Given the description of an element on the screen output the (x, y) to click on. 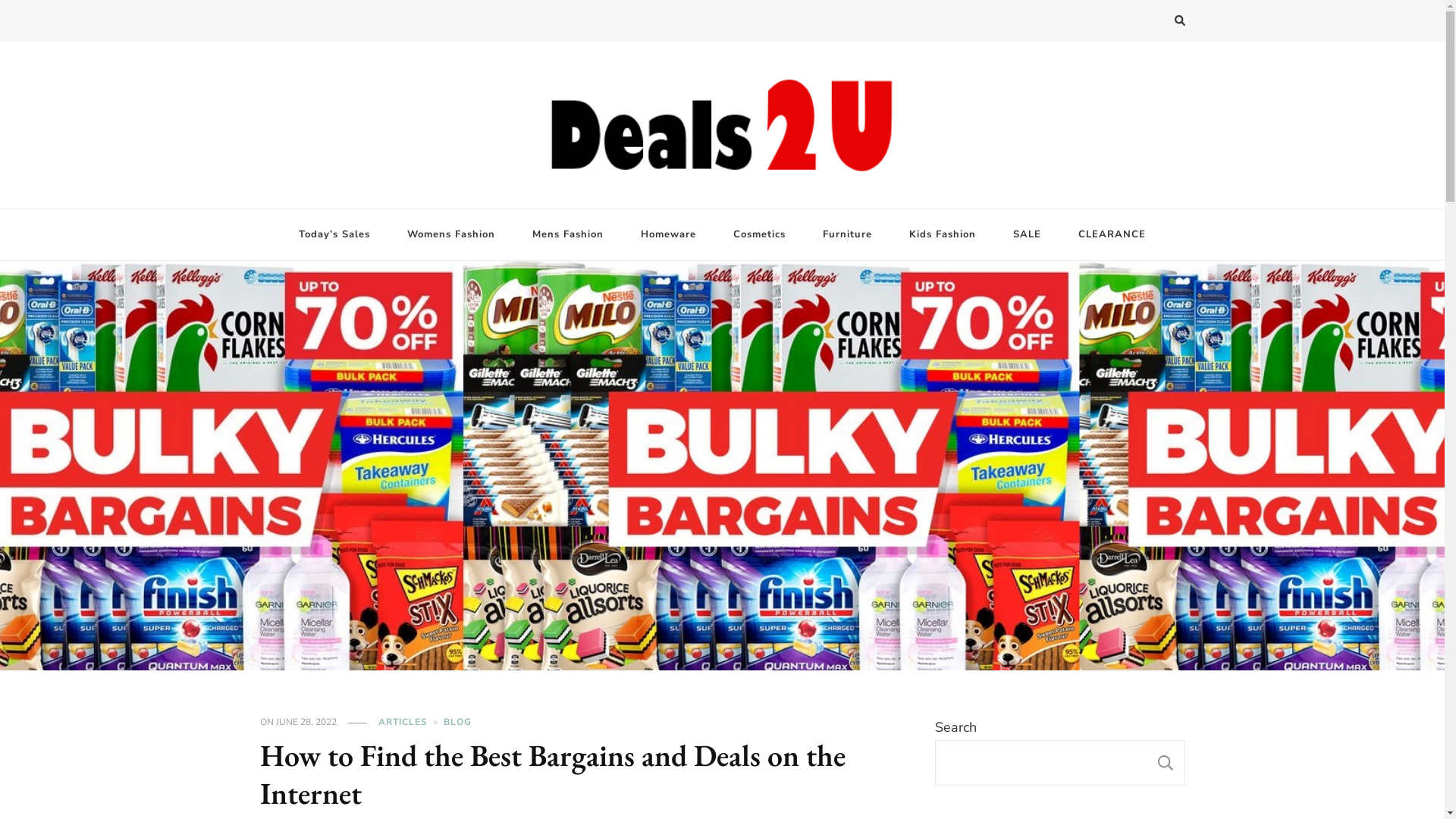
Search Element type: text (1152, 22)
Womens Fashion Element type: text (450, 234)
Furniture Element type: text (847, 234)
Cosmetics Element type: text (759, 234)
How to Find the Best Bargains and Deals on the Internet Element type: text (552, 773)
CLEARANCE Element type: text (1111, 234)
BLOG Element type: text (457, 722)
SEARCH Element type: text (1165, 762)
ARTICLES Element type: text (409, 722)
SALE Element type: text (1026, 234)
Homeware Element type: text (668, 234)
JUNE 28, 2022 Element type: text (306, 722)
Kids Fashion Element type: text (942, 234)
Mens Fashion Element type: text (567, 234)
Deals 2 U Element type: text (301, 200)
